Given the description of an element on the screen output the (x, y) to click on. 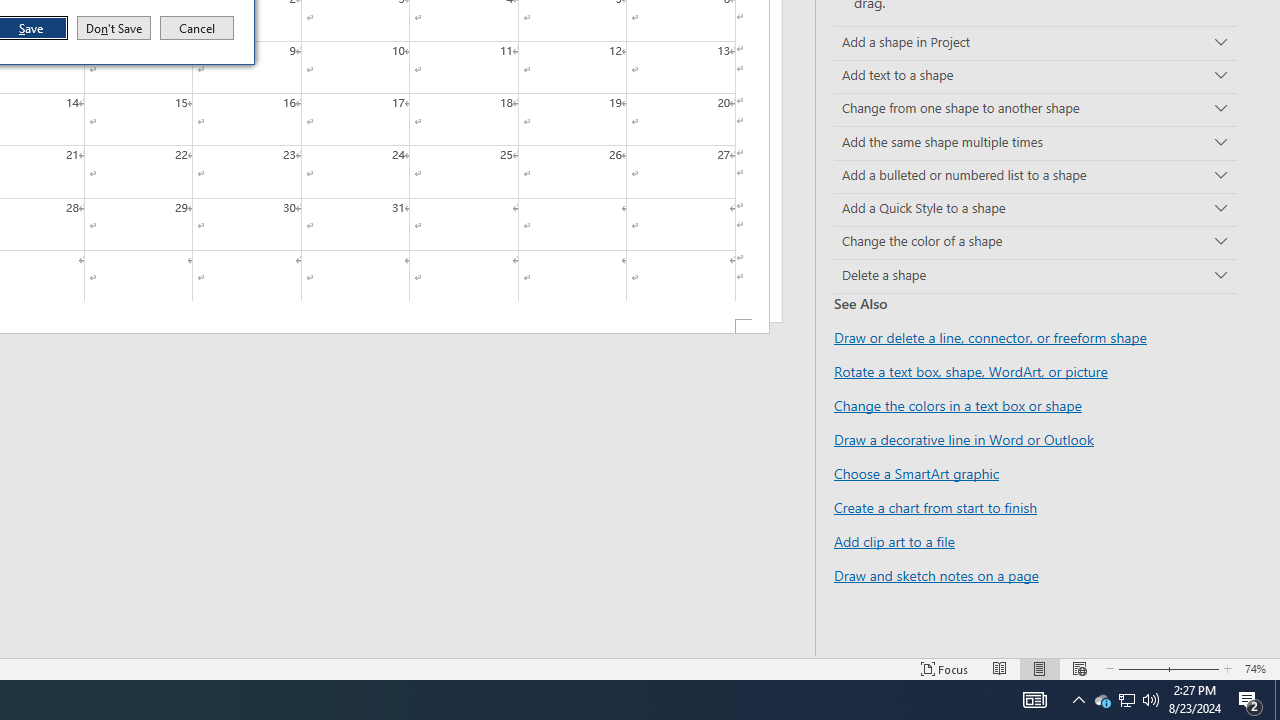
Change the colors in a text box or shape (957, 405)
Change the color of a shape (1035, 242)
Add text to a shape (1126, 699)
AutomationID: 4105 (1035, 76)
Add the same shape multiple times (1034, 699)
Q2790: 100% (1035, 142)
Show desktop (1151, 699)
Add a Quick Style to a shape (1277, 699)
Delete a shape (1035, 209)
